Given the description of an element on the screen output the (x, y) to click on. 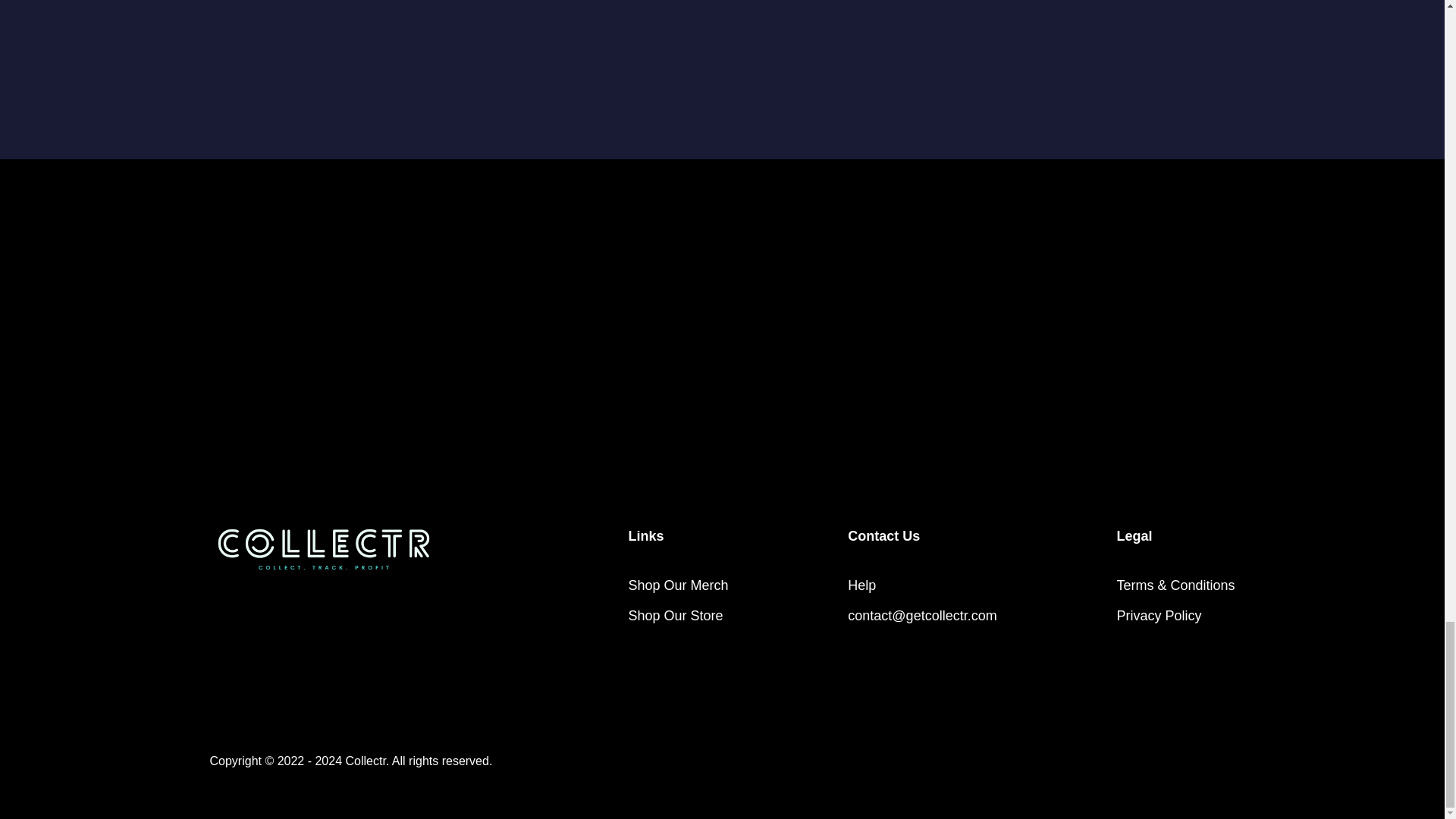
Shop Our Merch (677, 585)
Privacy Policy (1158, 615)
Help (861, 585)
Shop Our Store (674, 615)
